Given the description of an element on the screen output the (x, y) to click on. 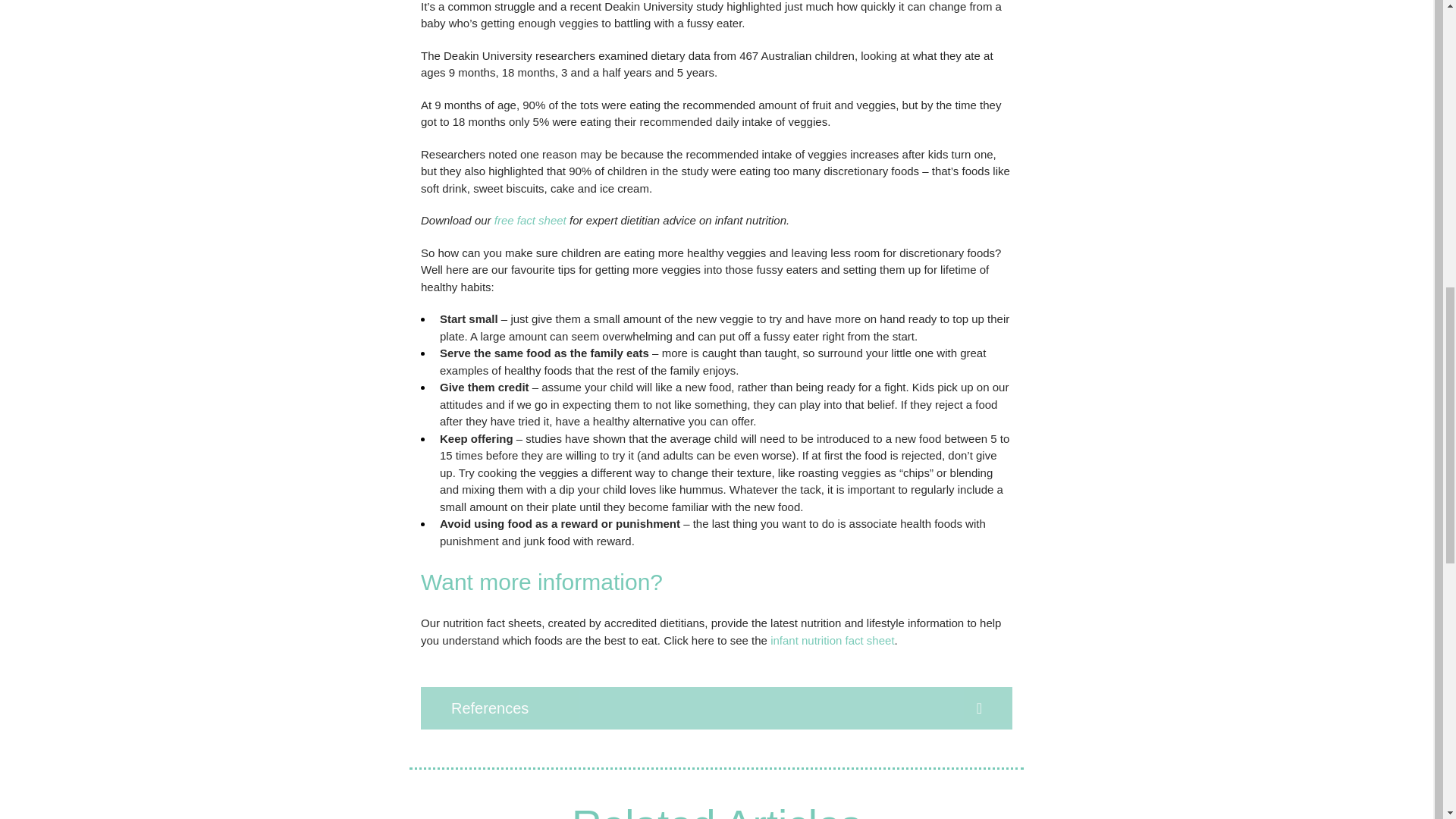
infant nutrition fact sheet (831, 640)
References (715, 708)
free fact sheet (530, 219)
